Given the description of an element on the screen output the (x, y) to click on. 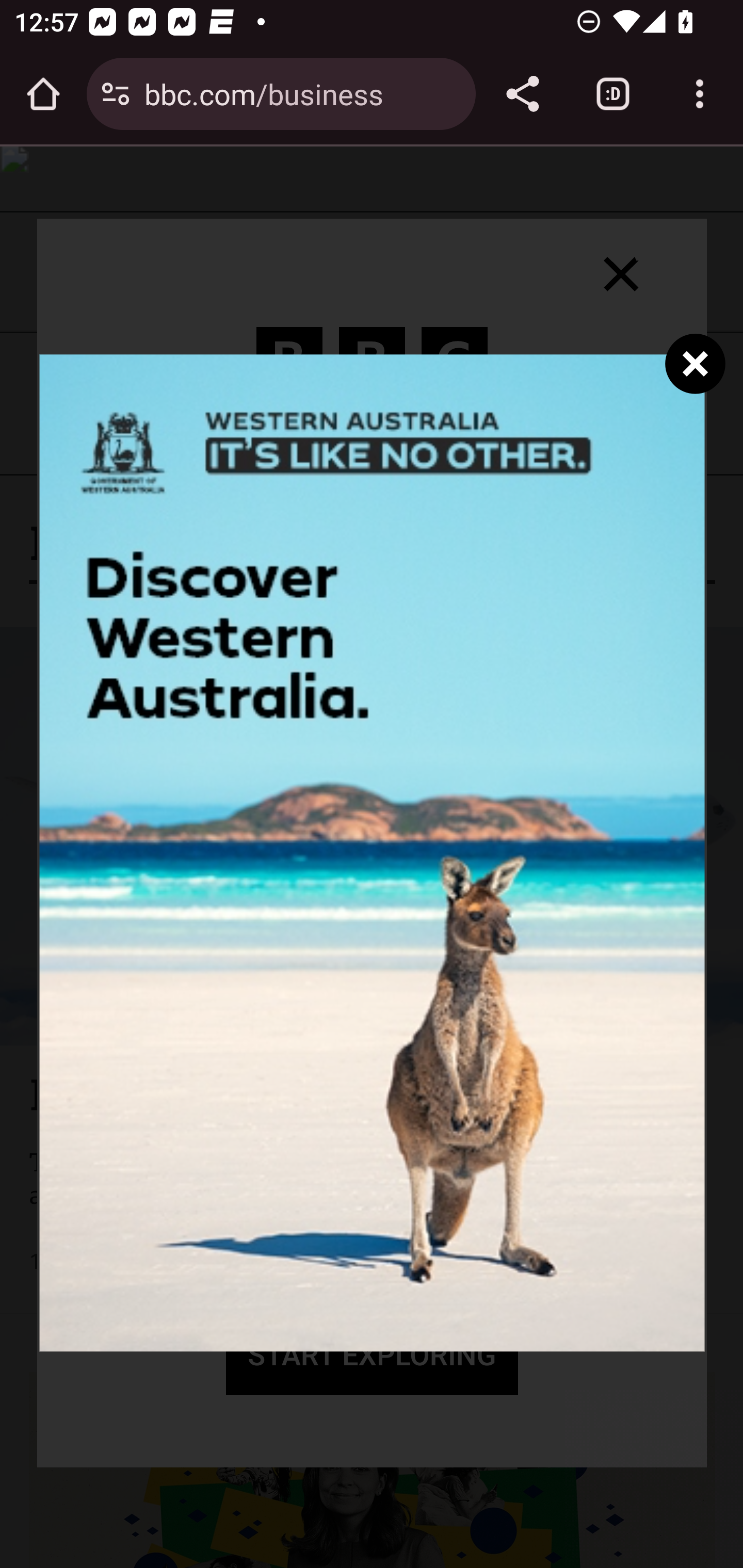
Open the home page (43, 93)
Connection is secure (115, 93)
Share (522, 93)
Switch or close tabs (612, 93)
Customize and control Google Chrome (699, 93)
bbc.com/business (302, 92)
